Given the description of an element on the screen output the (x, y) to click on. 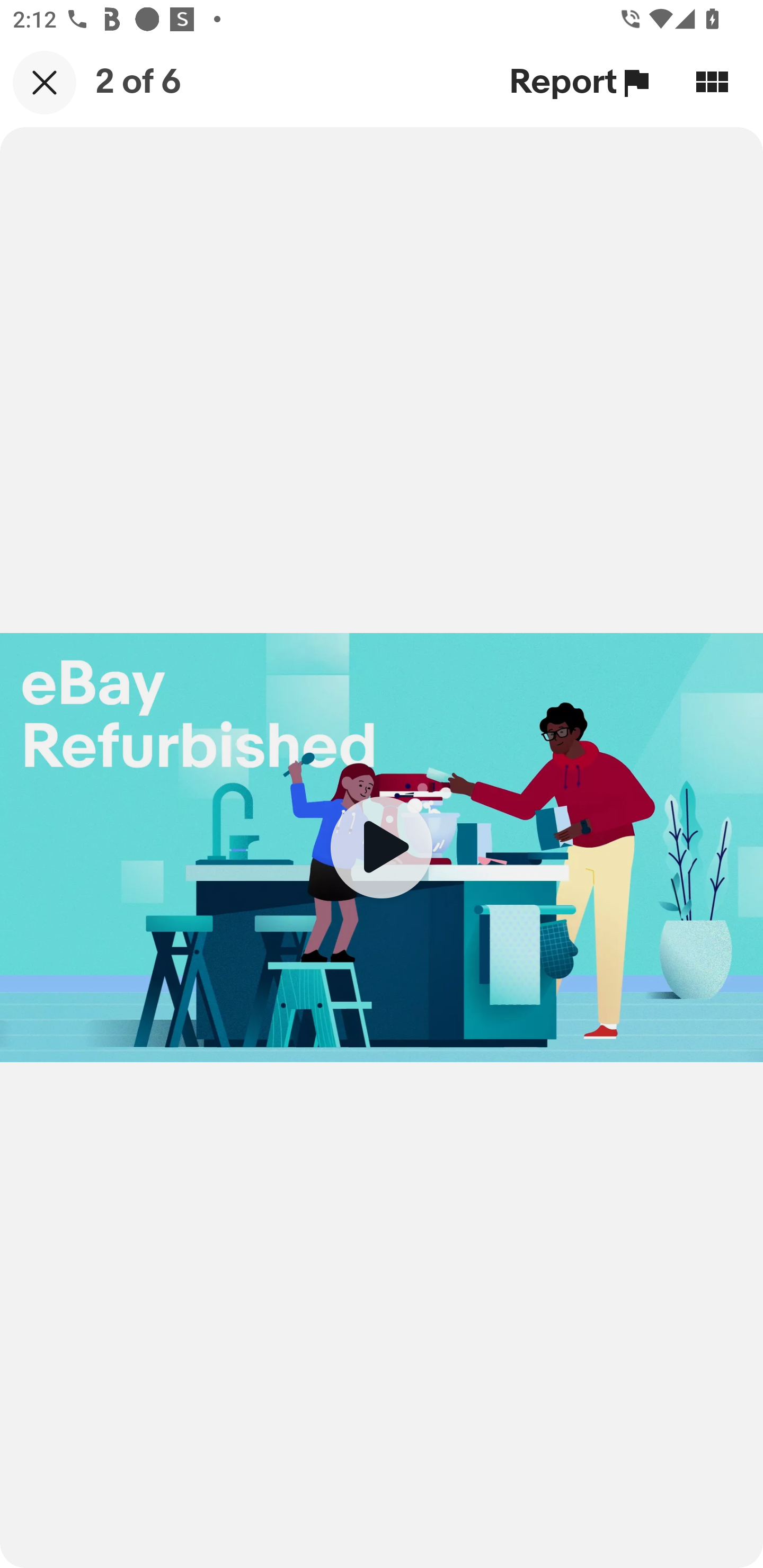
Close (44, 82)
Report Report this item (581, 82)
View in Gallery (711, 81)
